Given the description of an element on the screen output the (x, y) to click on. 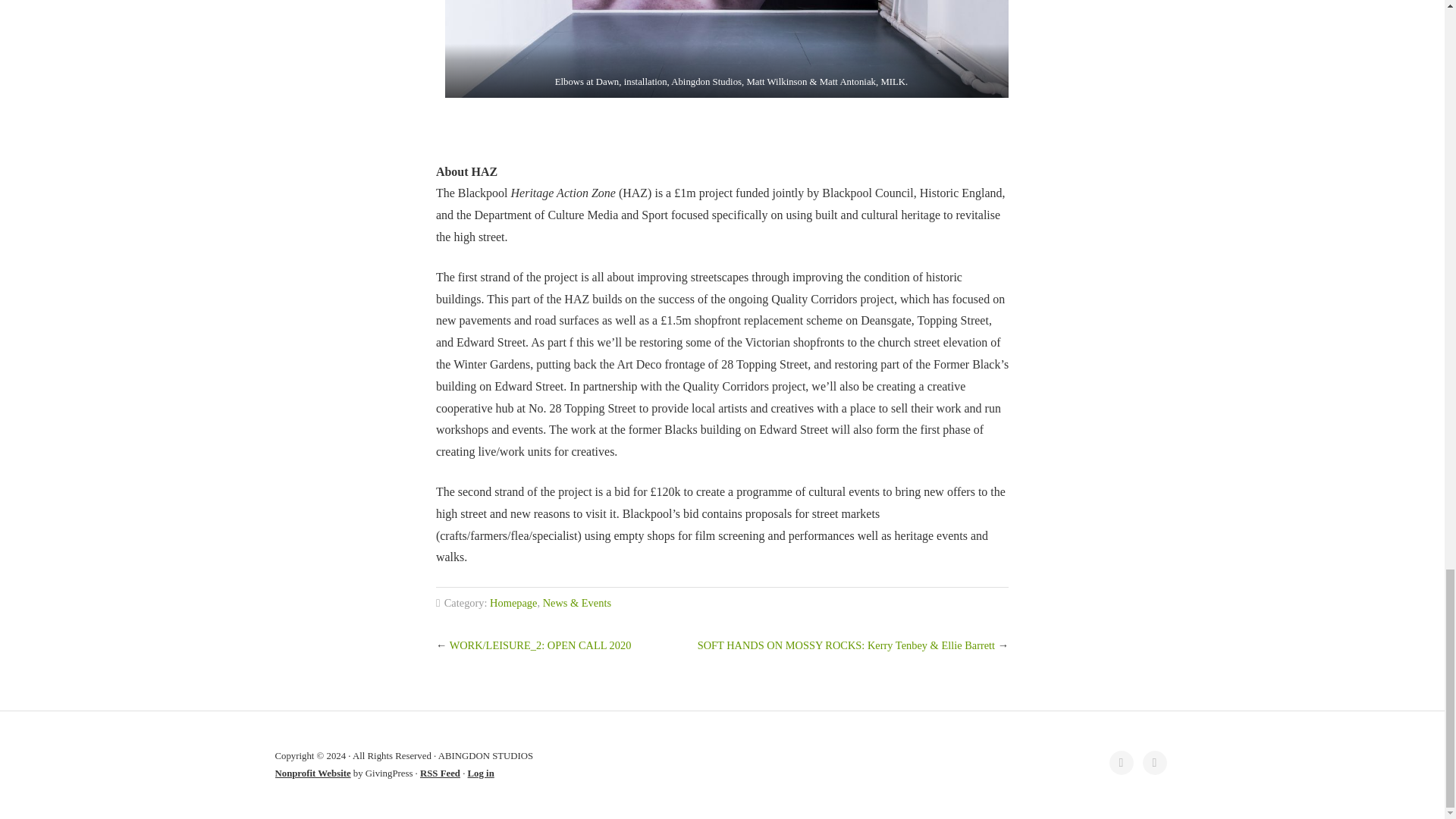
Homepage (513, 603)
RSS Feed (440, 773)
Nonprofit Website (312, 773)
Log in (481, 773)
